Given the description of an element on the screen output the (x, y) to click on. 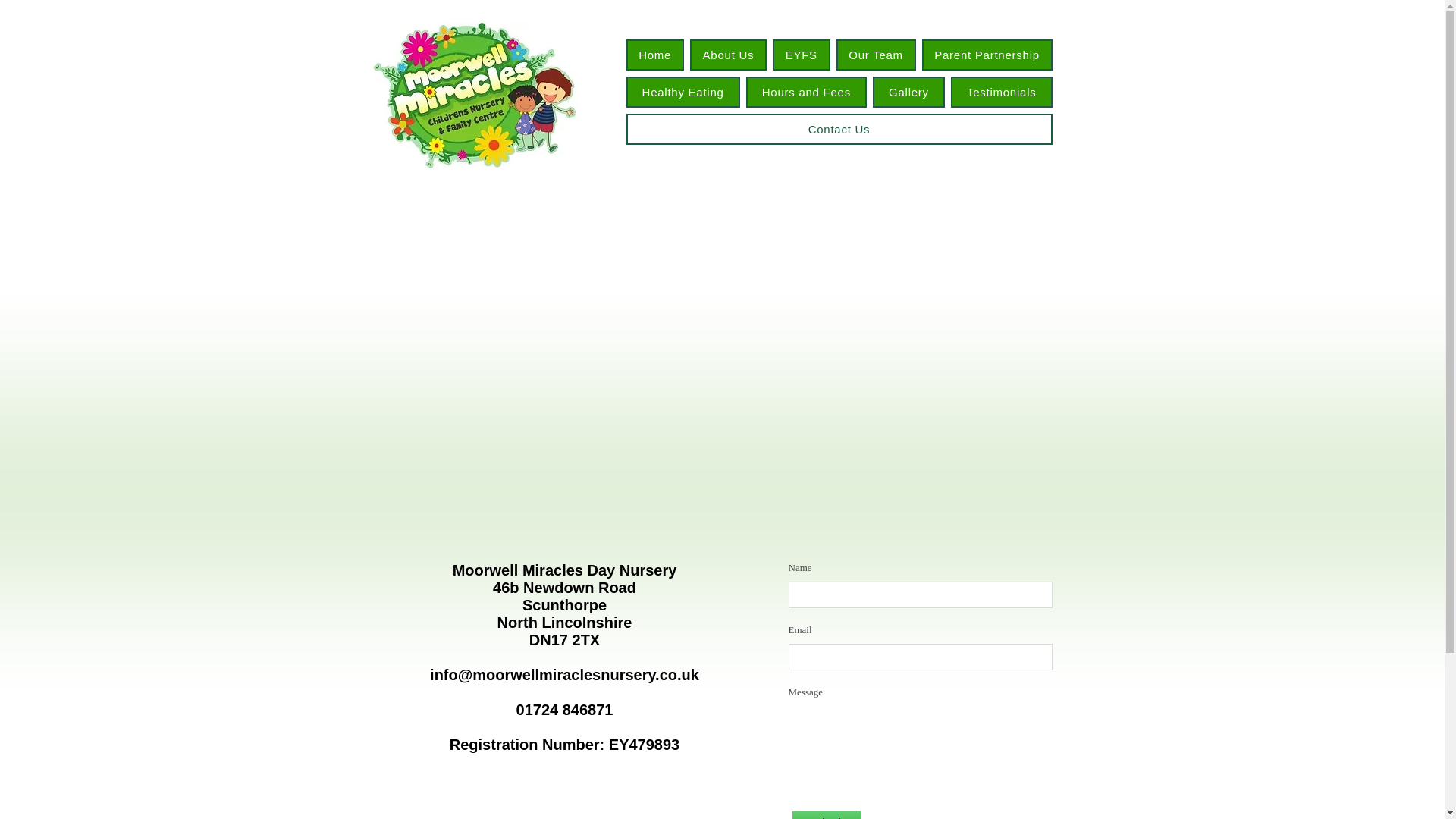
EYFS (801, 54)
Healthy Eating (682, 91)
About Us (728, 54)
Hours and Fees (805, 91)
Parent Partnership (986, 54)
Home (655, 54)
Our Team (875, 54)
